Given the description of an element on the screen output the (x, y) to click on. 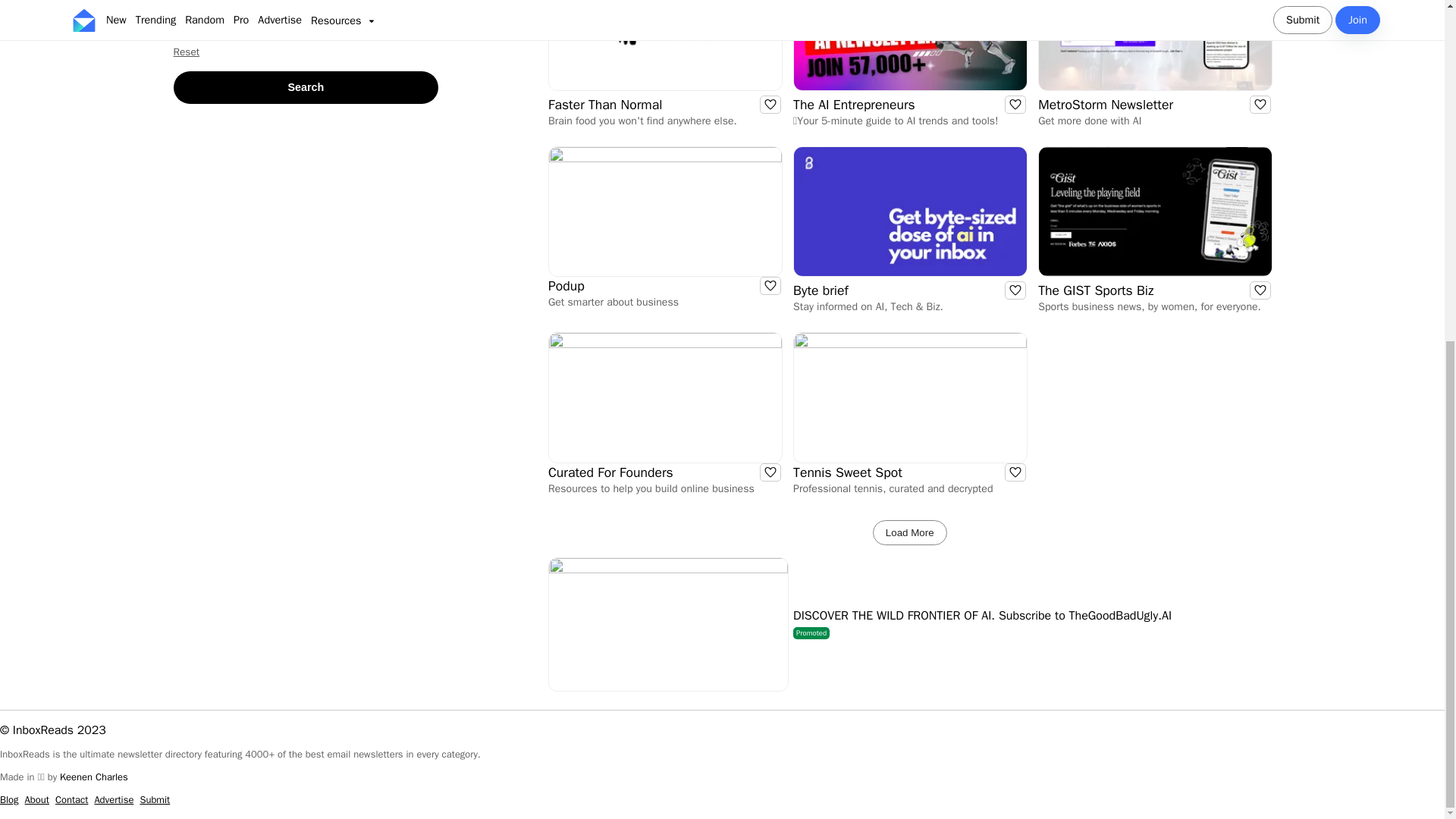
Search (306, 87)
